Given the description of an element on the screen output the (x, y) to click on. 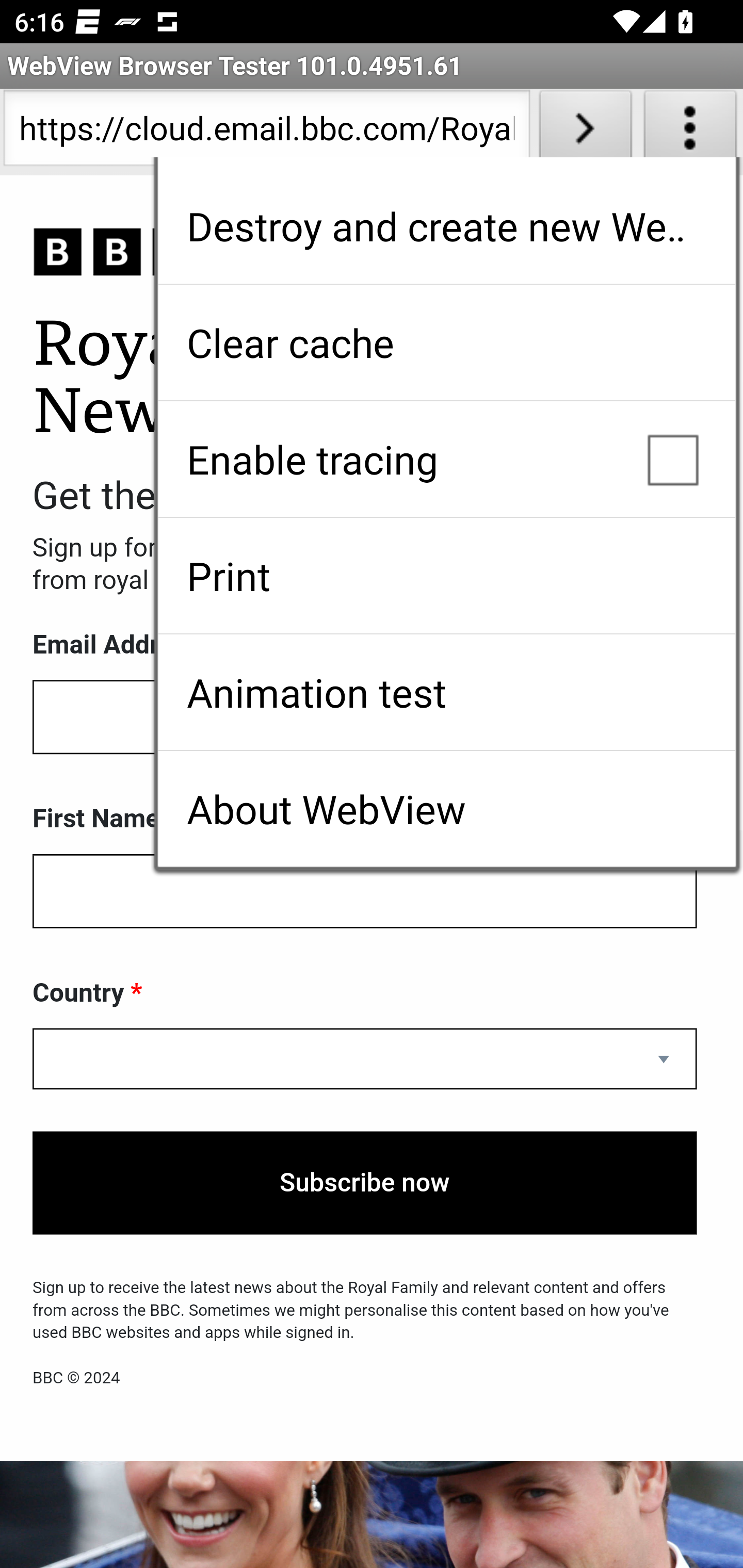
Destroy and create new WebView (446, 225)
Clear cache (446, 342)
Enable tracing (446, 459)
Print (446, 575)
Animation test (446, 692)
About WebView (446, 809)
